Given the description of an element on the screen output the (x, y) to click on. 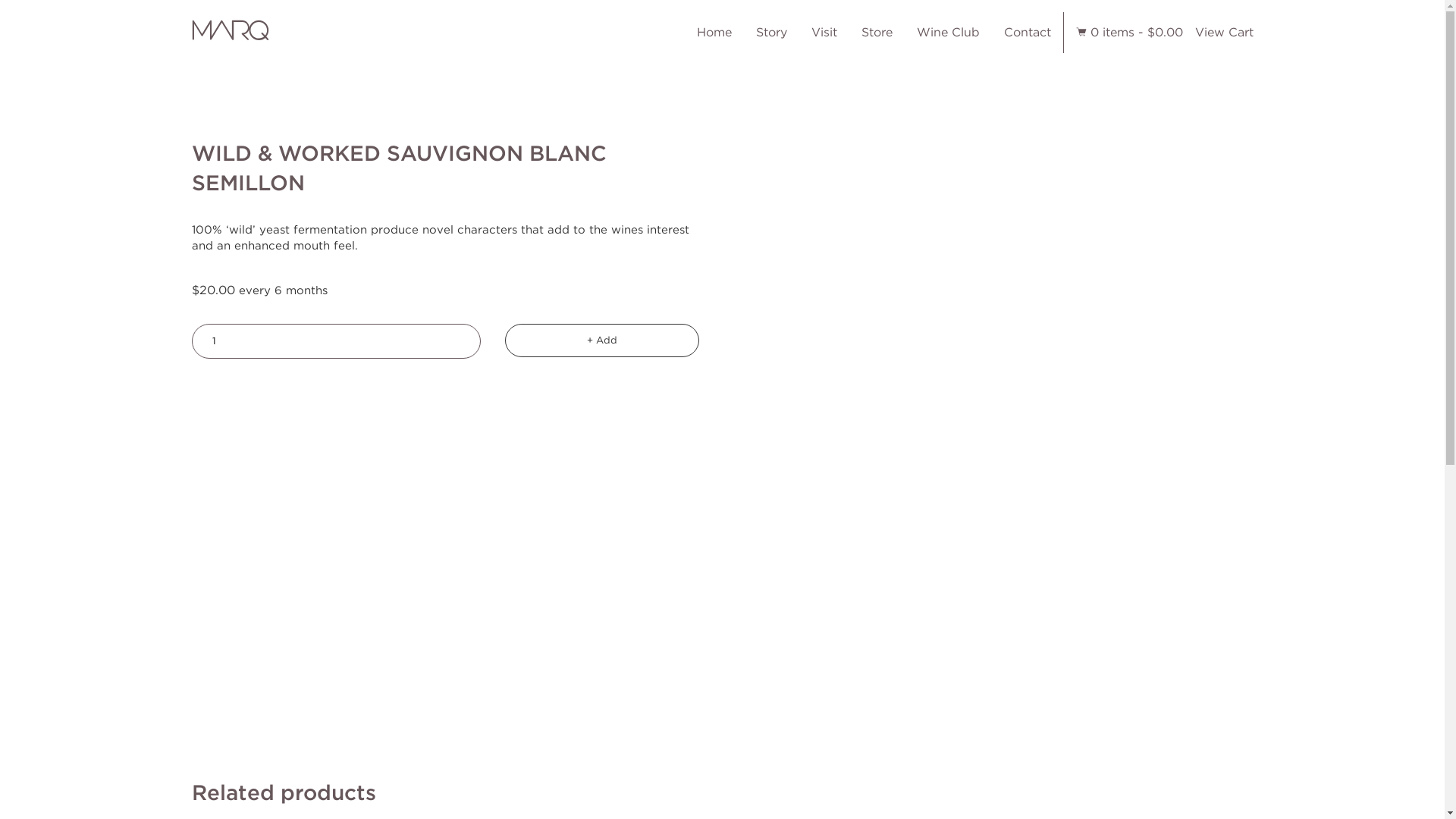
Qty Element type: hover (336, 340)
Wine Club Element type: text (947, 32)
View Cart Element type: text (1224, 32)
Contact Element type: text (1027, 32)
0 items - $0.00 Element type: text (1136, 32)
Home Element type: text (713, 32)
+ Add Element type: text (602, 340)
Story Element type: text (770, 32)
Visit Element type: text (824, 32)
Store Element type: text (876, 32)
